Given the description of an element on the screen output the (x, y) to click on. 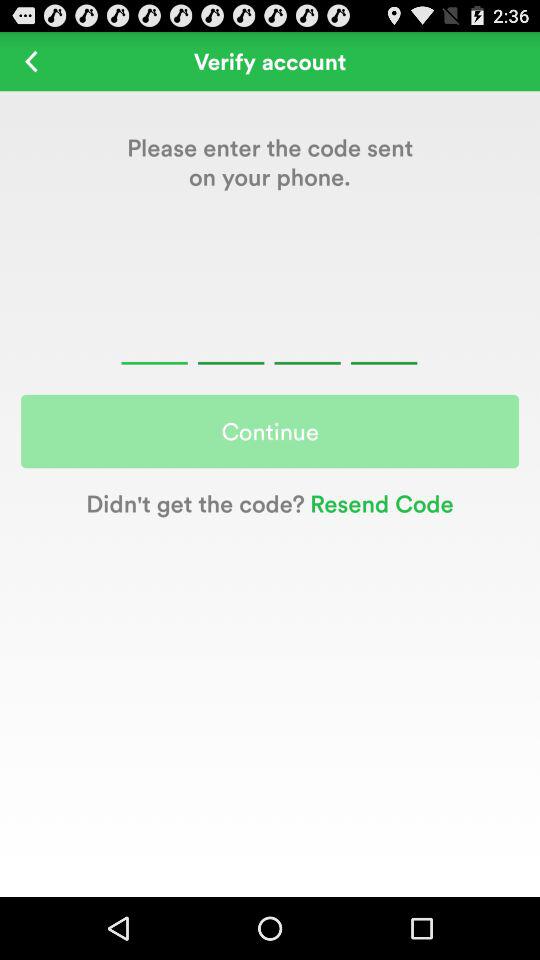
select the icon to the right of didn t get (378, 502)
